Given the description of an element on the screen output the (x, y) to click on. 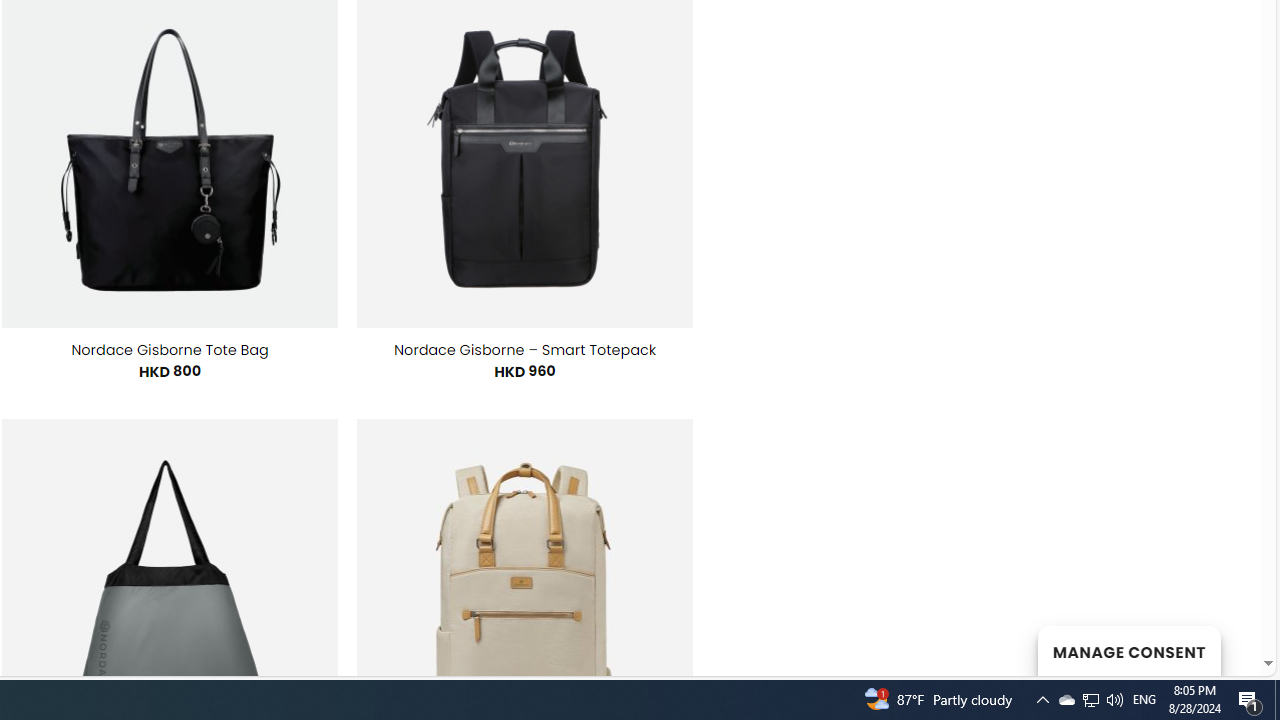
MANAGE CONSENT (1128, 650)
Nordace Gisborne Tote Bag (169, 350)
